Given the description of an element on the screen output the (x, y) to click on. 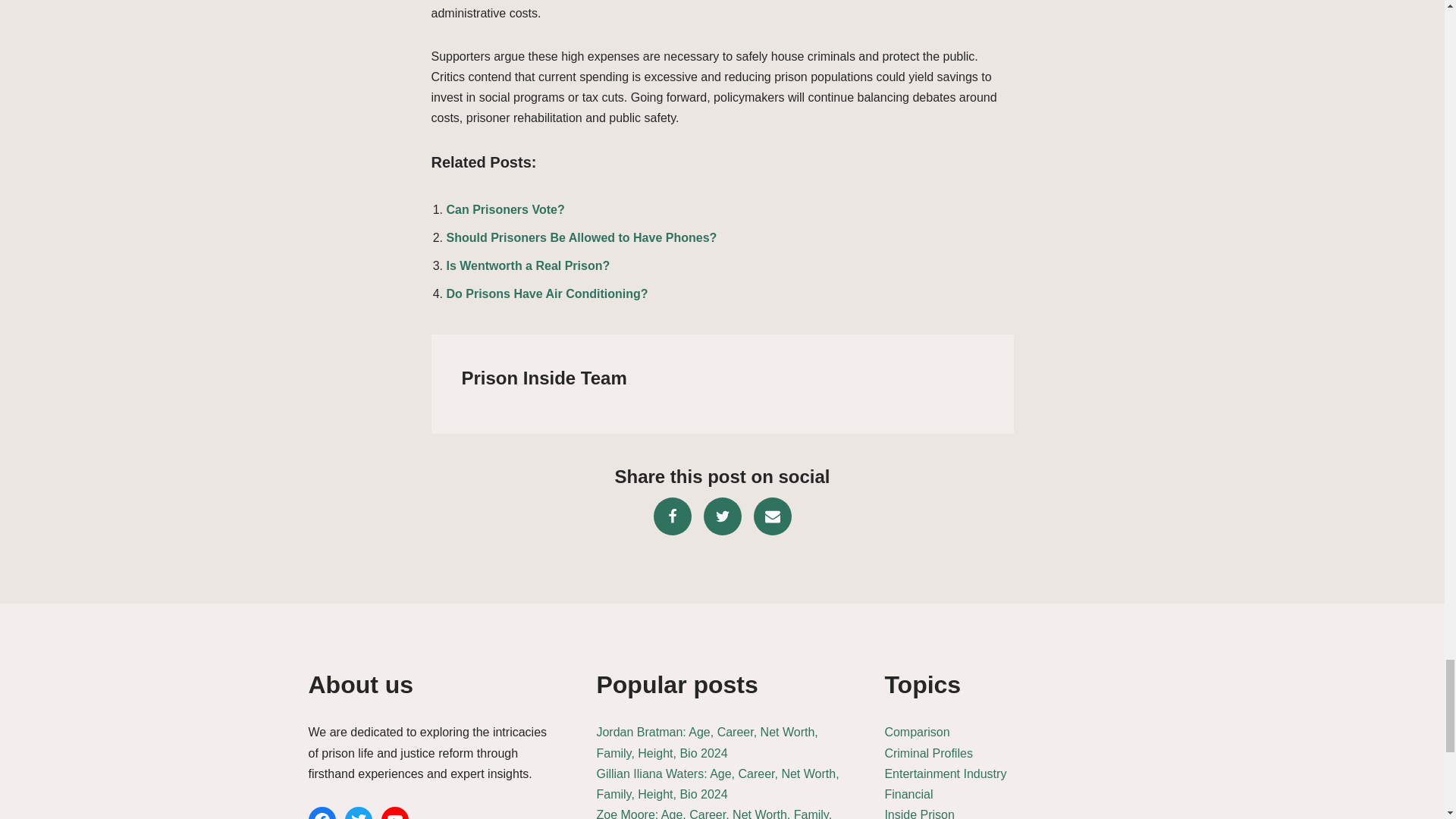
Can Prisoners Vote? (504, 209)
Do Prisons Have Air Conditioning? (546, 293)
Twitter (722, 516)
Is Wentworth a Real Prison? (527, 265)
Should Prisoners Be Allowed to Have Phones? (580, 237)
Facebook (672, 516)
